Given the description of an element on the screen output the (x, y) to click on. 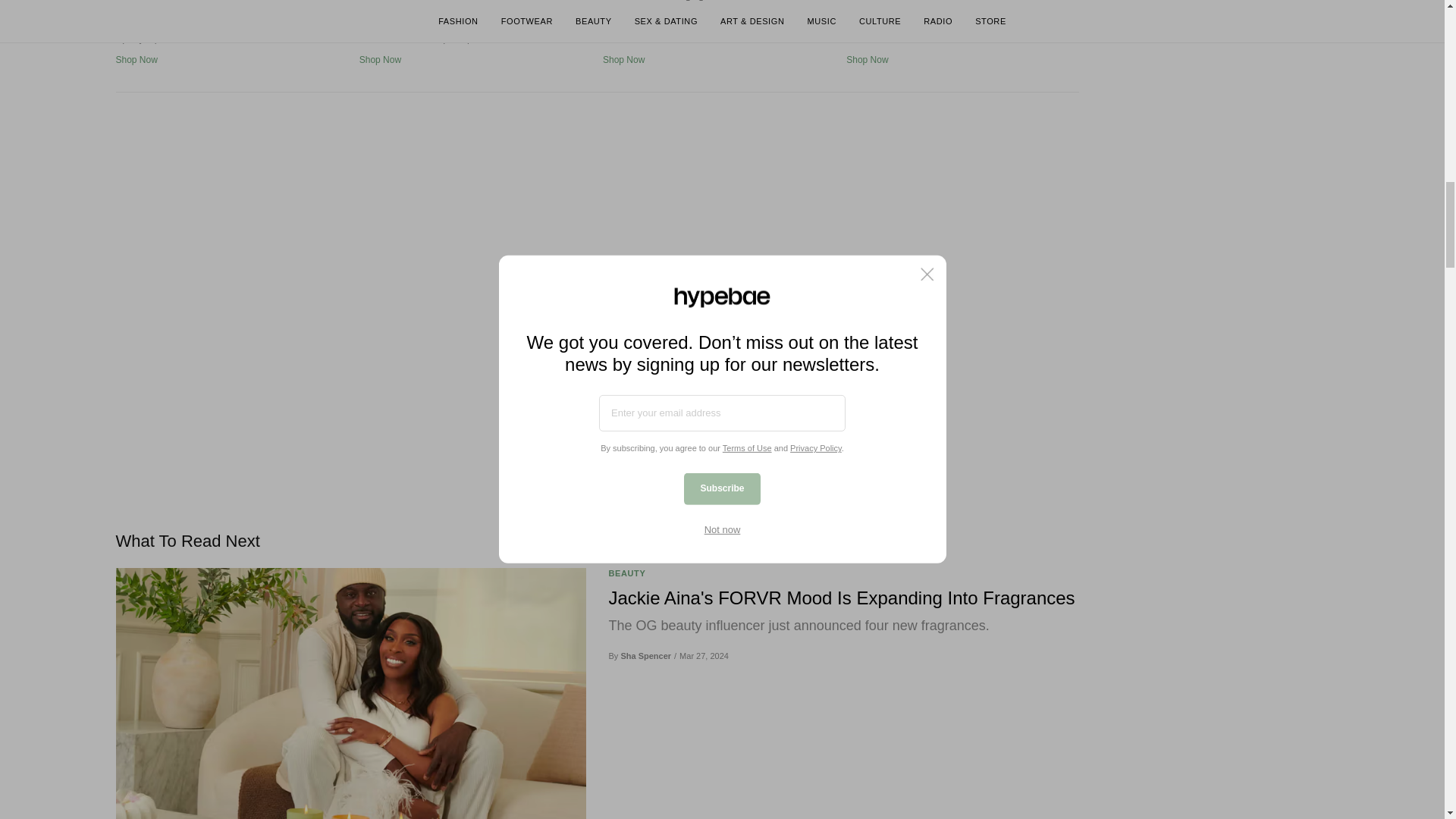
Hoodie Ribbon Drape Top (475, 2)
UNBALANCE STITCH TOP (961, 2)
Beauty (626, 573)
Jackie Aina's FORVR Mood Is Expanding Into Fragrances (350, 693)
PATCH HIGH-NECK HOODIE TOP (718, 2)
Sporty Open Shoulder Hooded (231, 2)
Jackie Aina's FORVR Mood Is Expanding Into Fragrances (843, 597)
